Given the description of an element on the screen output the (x, y) to click on. 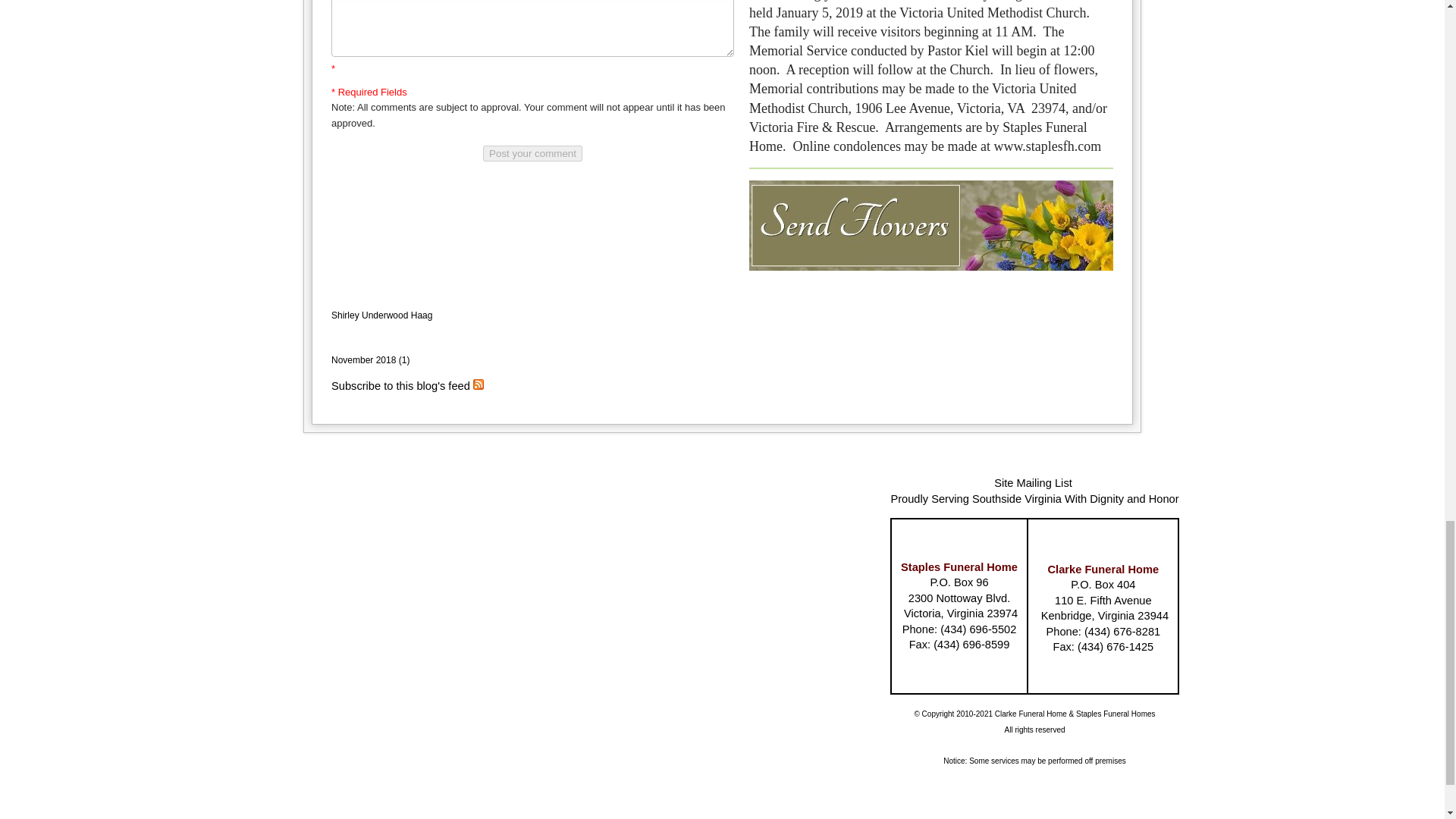
Post your comment (532, 153)
Subscribe to this blog's feed (400, 386)
Site Mailing List (1032, 482)
Shirley Underwood Haag (381, 315)
